Given the description of an element on the screen output the (x, y) to click on. 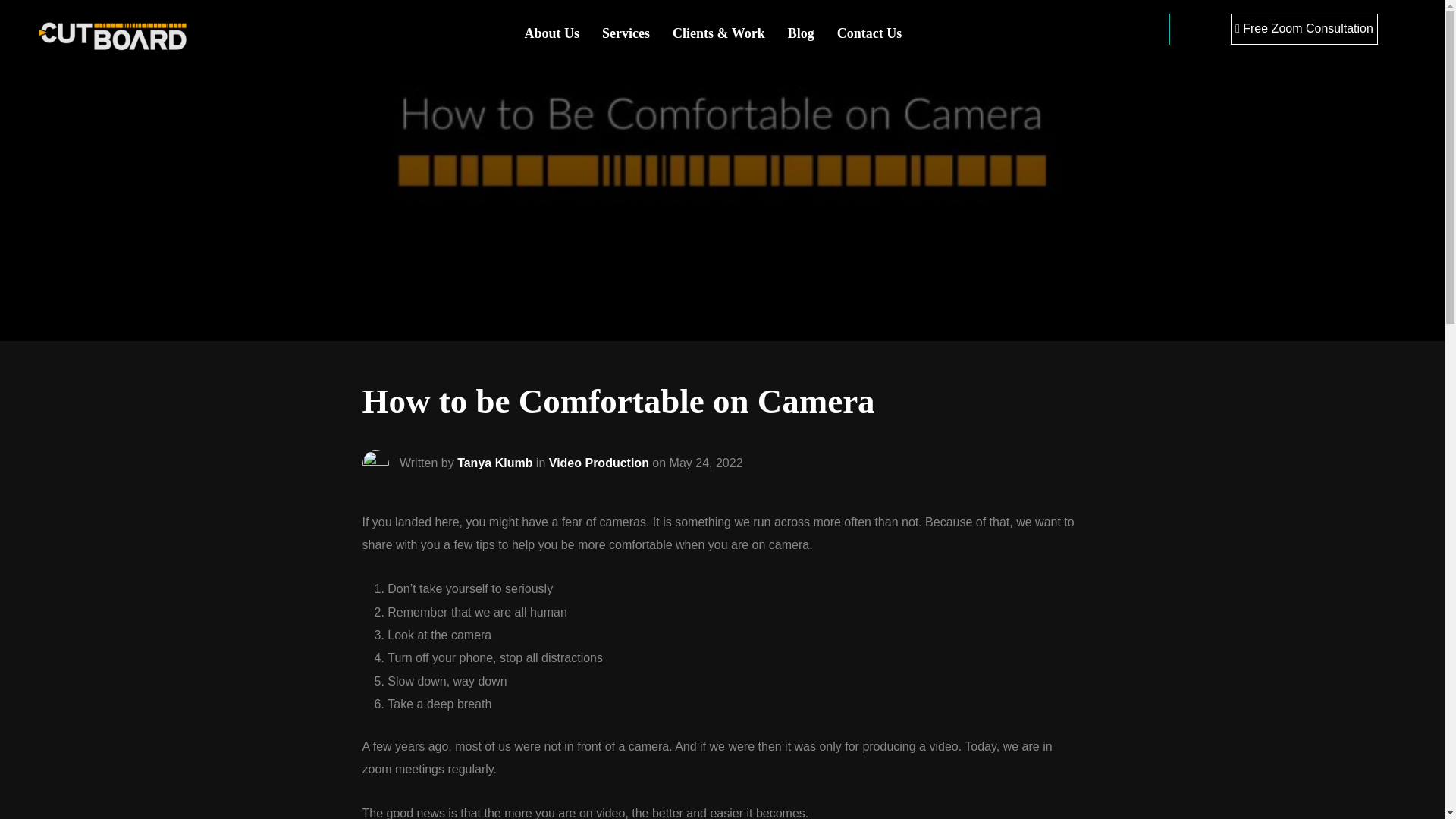
Contact Us (869, 32)
About Us (551, 32)
Posts by Tanya Klumb (494, 461)
Video Production (598, 461)
Free Zoom Consultation (1303, 28)
Services (625, 32)
Tanya Klumb (494, 461)
